Given the description of an element on the screen output the (x, y) to click on. 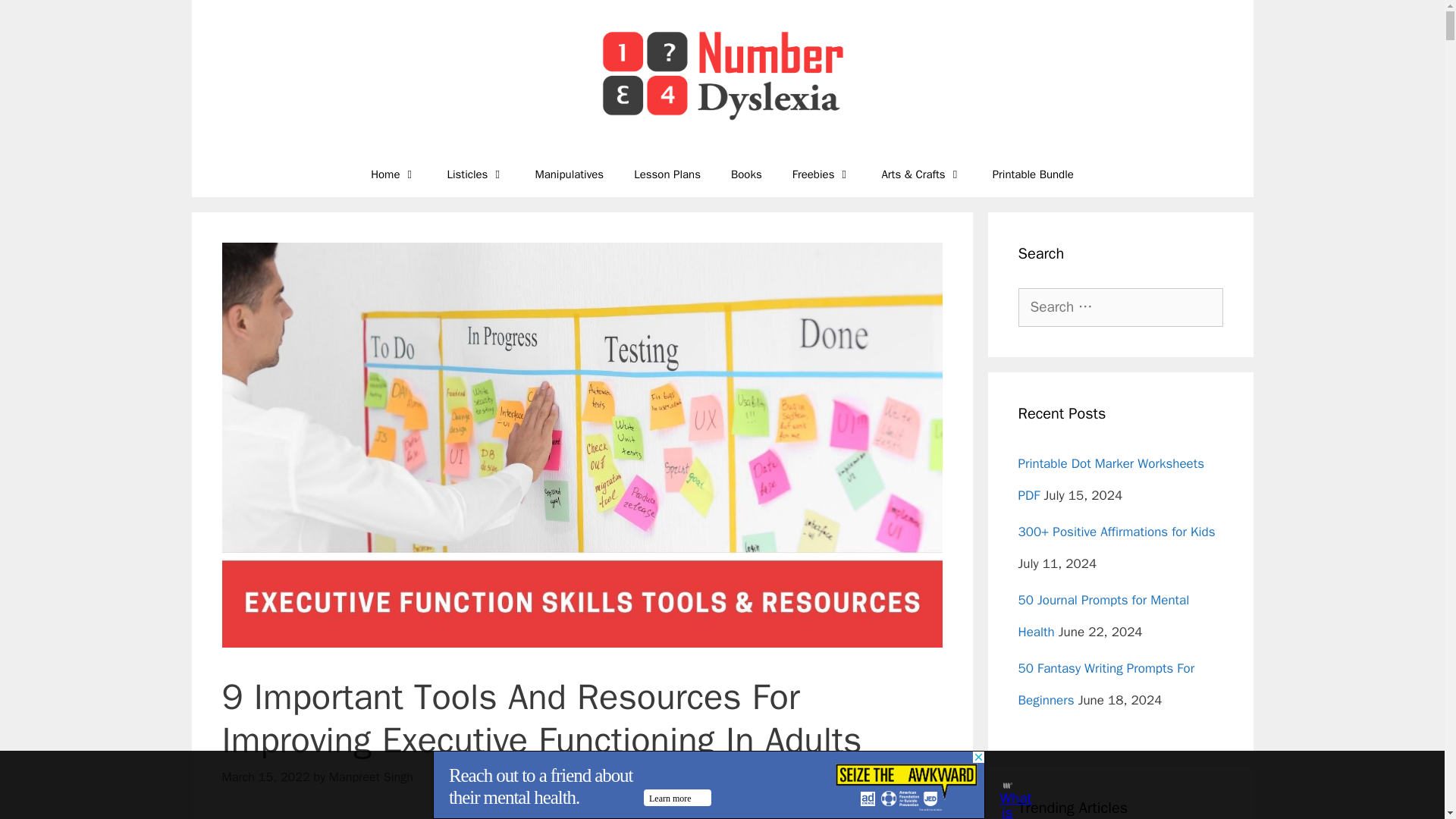
Books (746, 174)
Listicles (474, 174)
3rd party ad content (708, 785)
Lesson Plans (667, 174)
Search for: (1120, 307)
Freebies (821, 174)
Home (392, 174)
Manipulatives (568, 174)
Printable Bundle (1032, 174)
Manpreet Singh (371, 776)
View all posts by Manpreet Singh (371, 776)
